Given the description of an element on the screen output the (x, y) to click on. 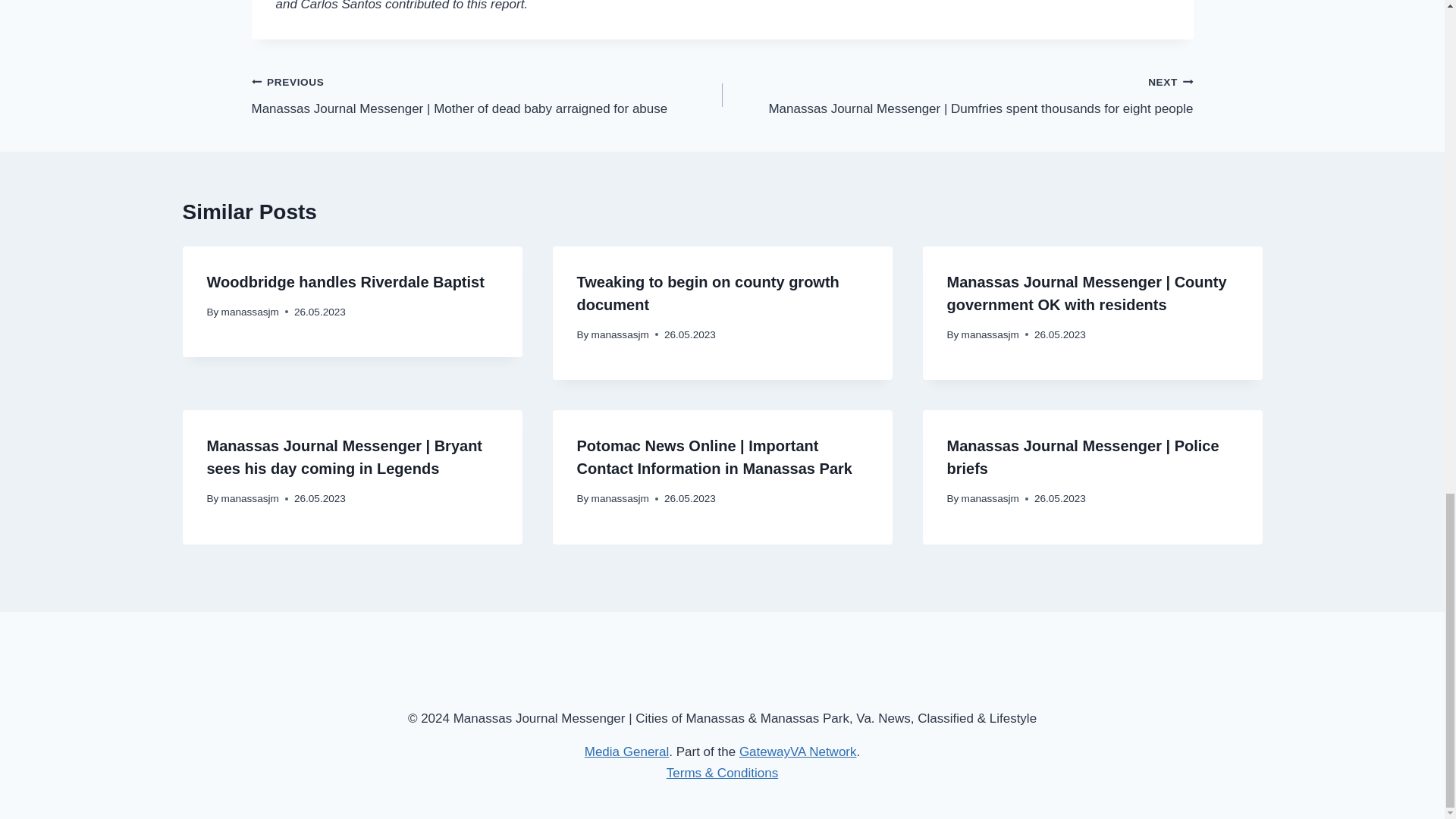
Tweaking to begin on county growth document (707, 292)
Woodbridge handles Riverdale Baptist (344, 281)
manassasjm (250, 311)
manassasjm (620, 334)
